Given the description of an element on the screen output the (x, y) to click on. 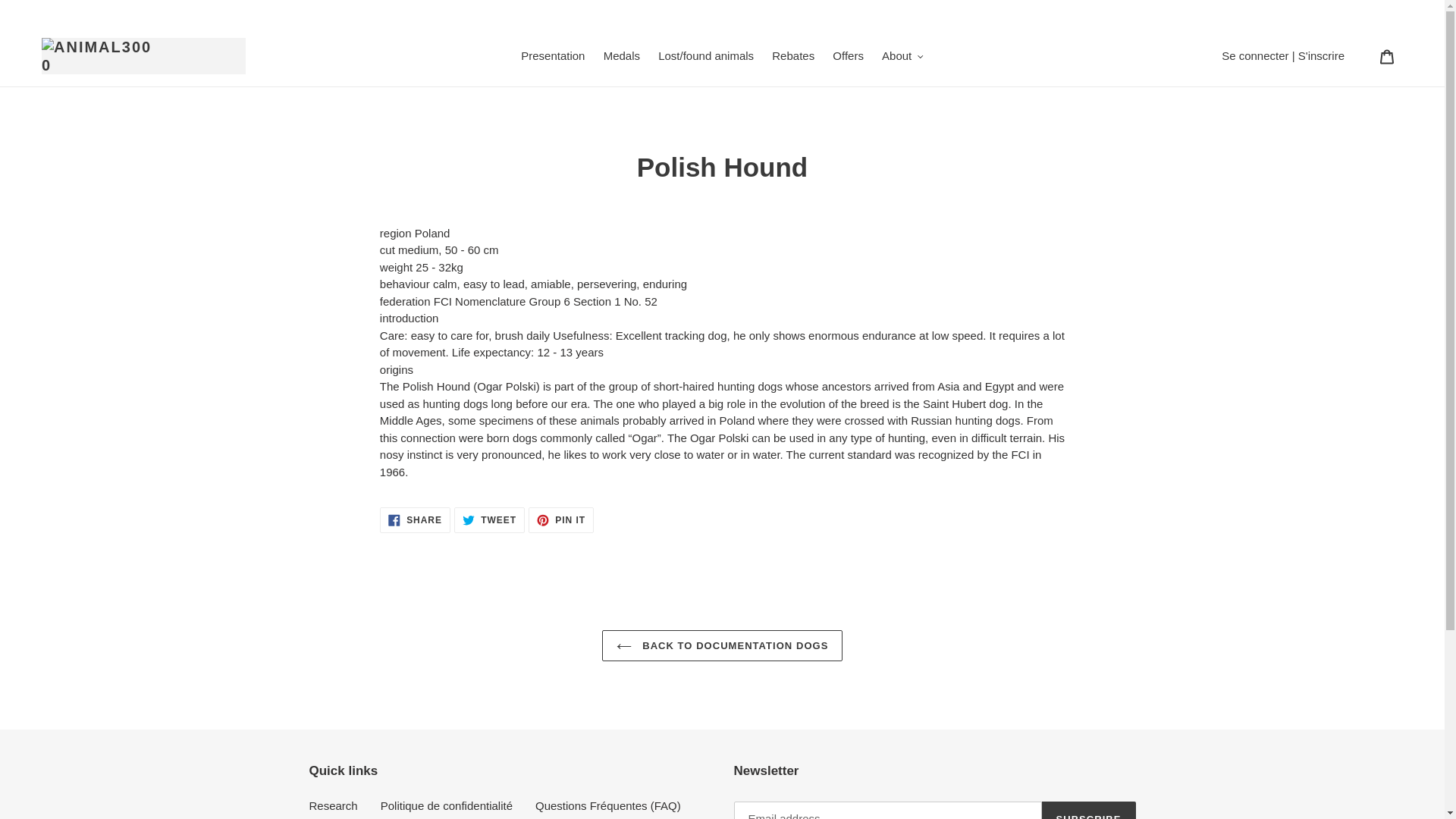
Research (333, 805)
Medals (621, 56)
SUBSCRIBE (561, 519)
Rebates (1088, 810)
Offers (793, 56)
BACK TO DOCUMENTATION DOGS (847, 56)
Presentation (722, 644)
Cart (414, 519)
About (552, 56)
